Given the description of an element on the screen output the (x, y) to click on. 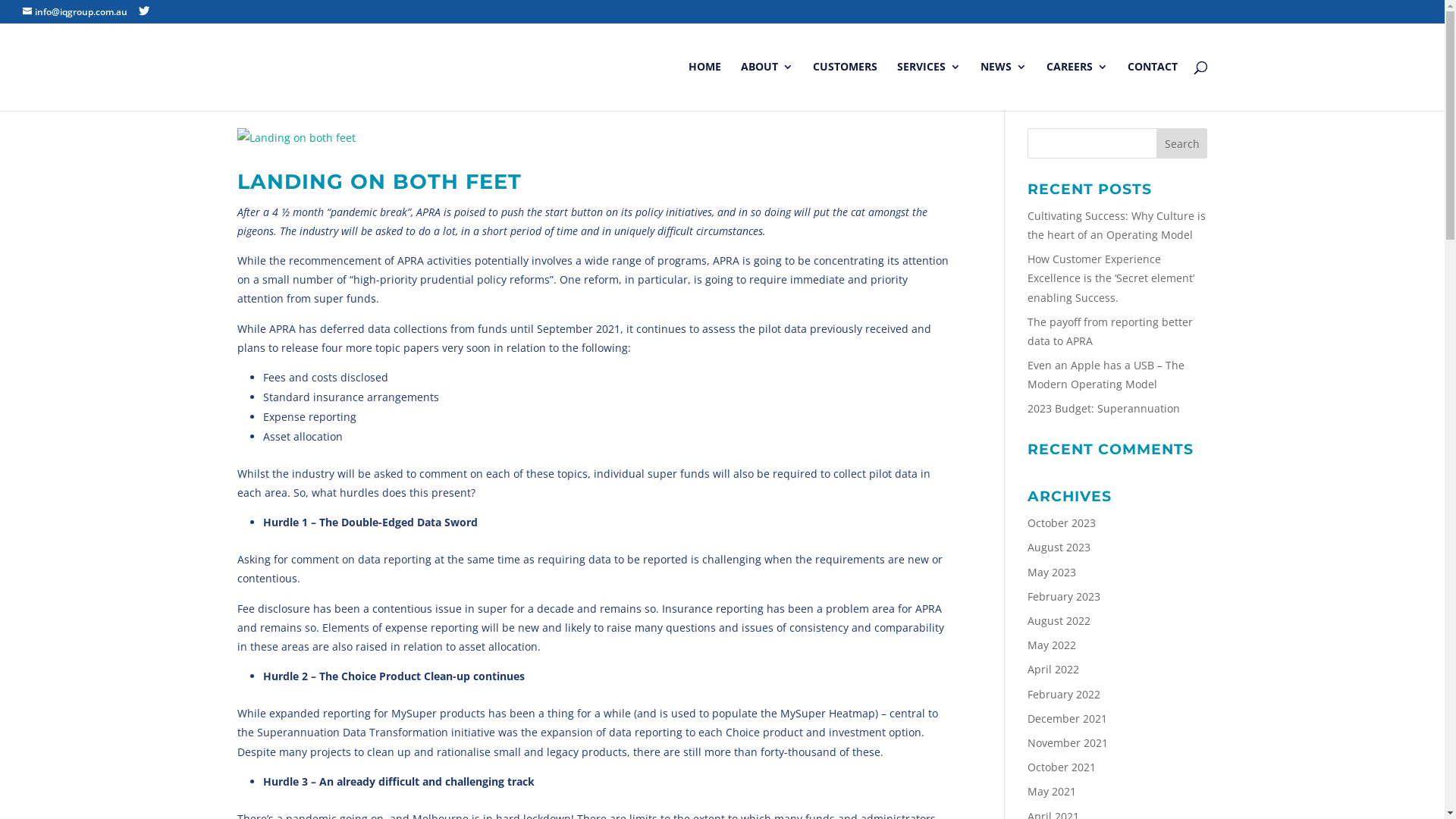
August 2023 Element type: text (1058, 546)
Search Element type: text (1182, 143)
CUSTOMERS Element type: text (844, 85)
HOME Element type: text (704, 85)
LANDING ON BOTH FEET Element type: text (378, 181)
February 2023 Element type: text (1063, 596)
November 2021 Element type: text (1067, 742)
info@iqgroup.com.au Element type: text (74, 11)
2023 Budget: Superannuation Element type: text (1103, 408)
The payoff from reporting better data to APRA Element type: text (1109, 331)
February 2022 Element type: text (1063, 694)
ABOUT Element type: text (766, 85)
May 2021 Element type: text (1051, 791)
October 2021 Element type: text (1061, 766)
SERVICES Element type: text (928, 85)
October 2023 Element type: text (1061, 522)
CONTACT Element type: text (1151, 85)
May 2022 Element type: text (1051, 644)
August 2022 Element type: text (1058, 620)
May 2023 Element type: text (1051, 571)
NEWS Element type: text (1002, 85)
CAREERS Element type: text (1076, 85)
December 2021 Element type: text (1067, 718)
April 2022 Element type: text (1053, 669)
